Given the description of an element on the screen output the (x, y) to click on. 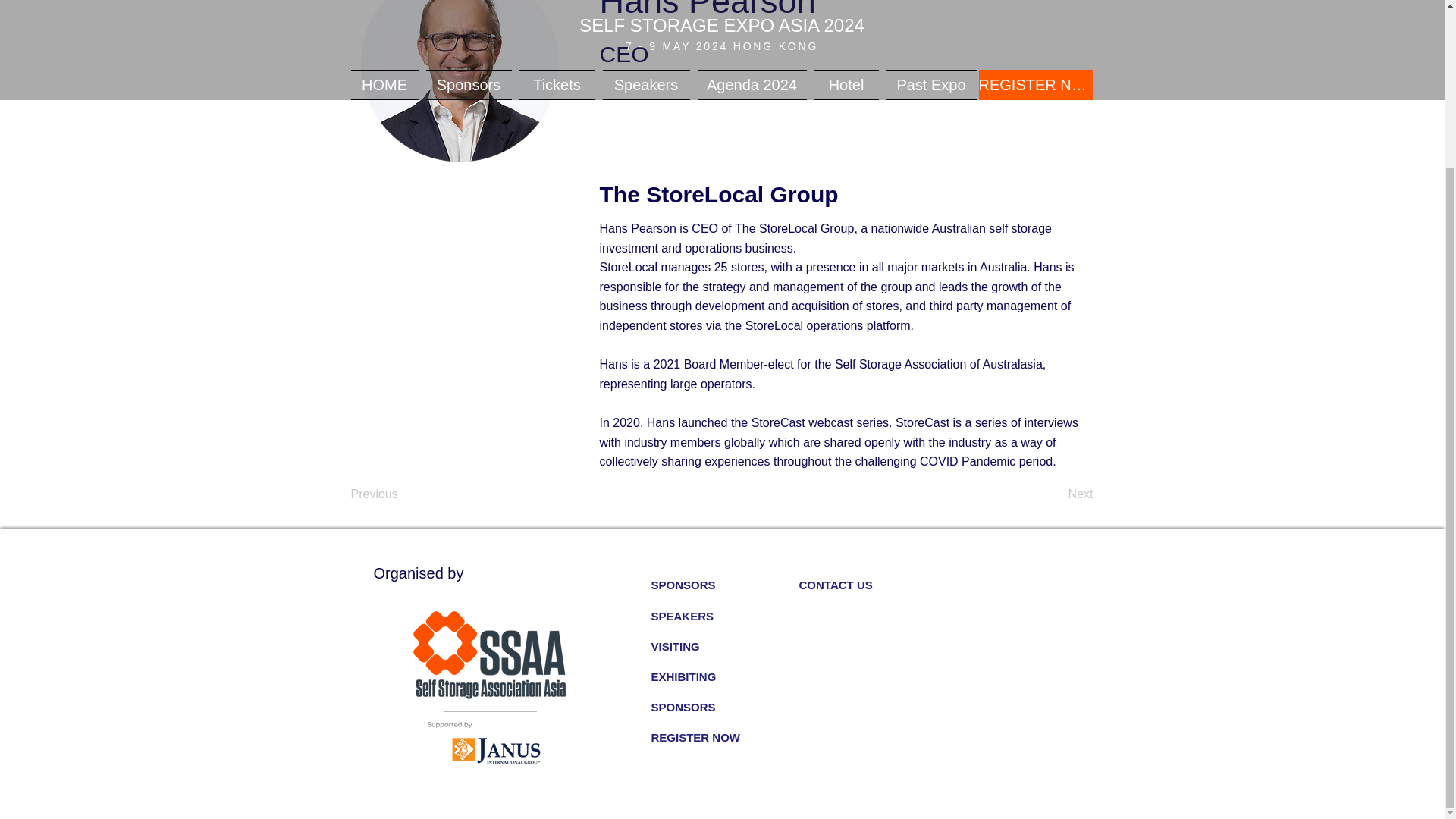
REGISTER NOW (723, 737)
VISITING (723, 646)
EXHIBITING (723, 676)
SPONSORS (723, 585)
SPEAKERS (723, 616)
Hans Pearson.png (460, 81)
Next (1055, 494)
CONTACT US (873, 585)
Previous (399, 494)
SPONSORS (723, 707)
